Given the description of an element on the screen output the (x, y) to click on. 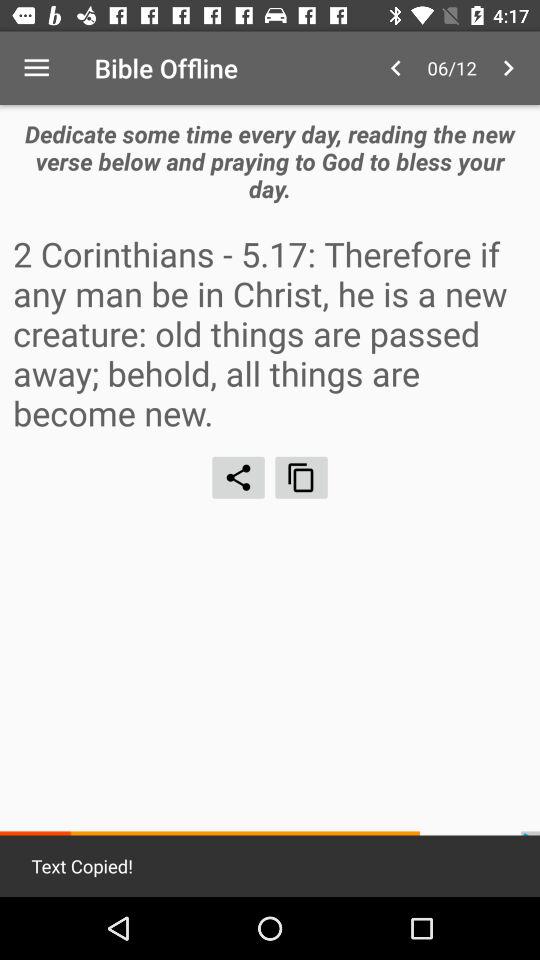
choose the icon next to the 06/12 item (508, 67)
